Given the description of an element on the screen output the (x, y) to click on. 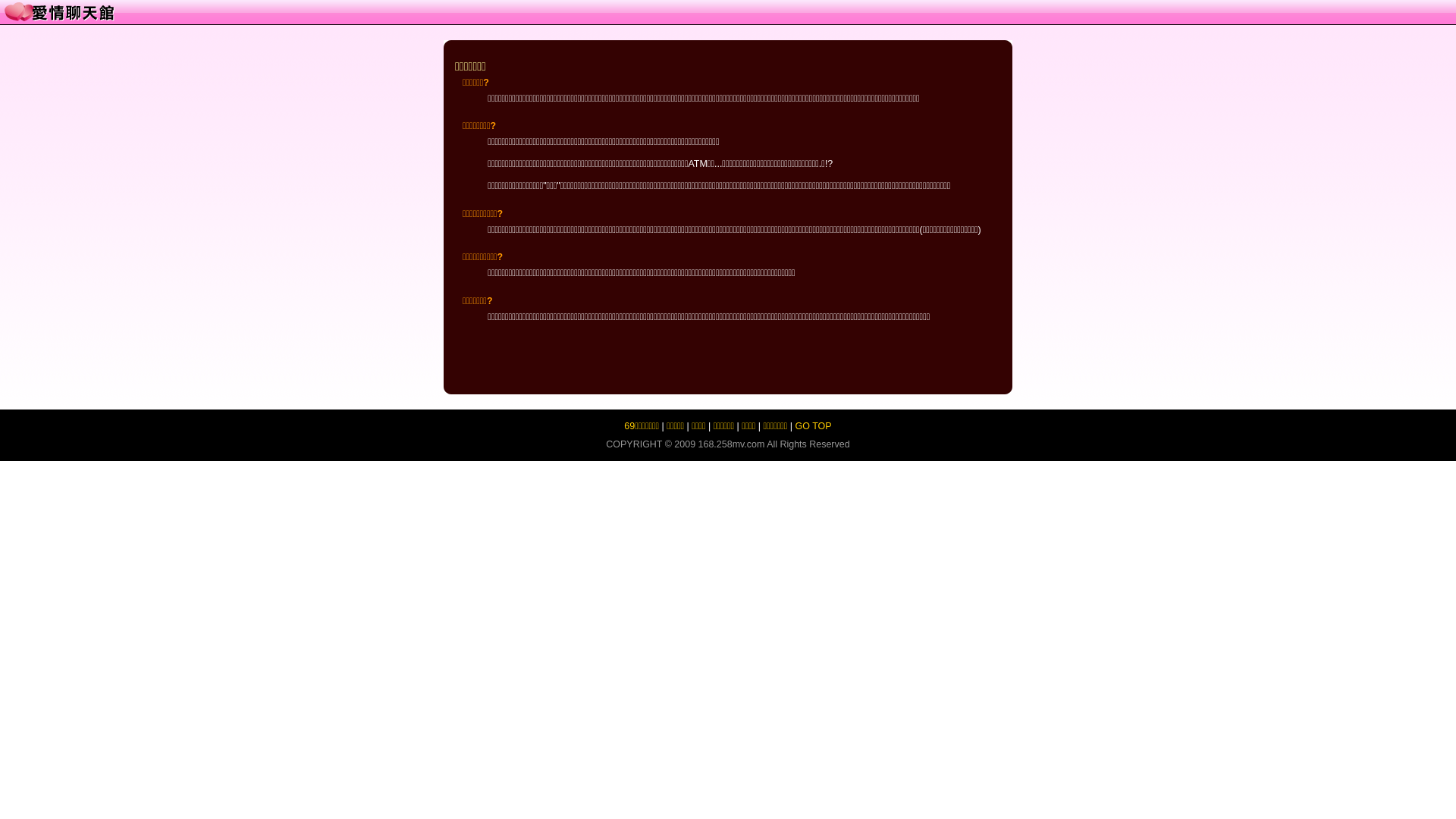
GO TOP Element type: text (813, 425)
168.258mv.com Element type: text (731, 444)
